Given the description of an element on the screen output the (x, y) to click on. 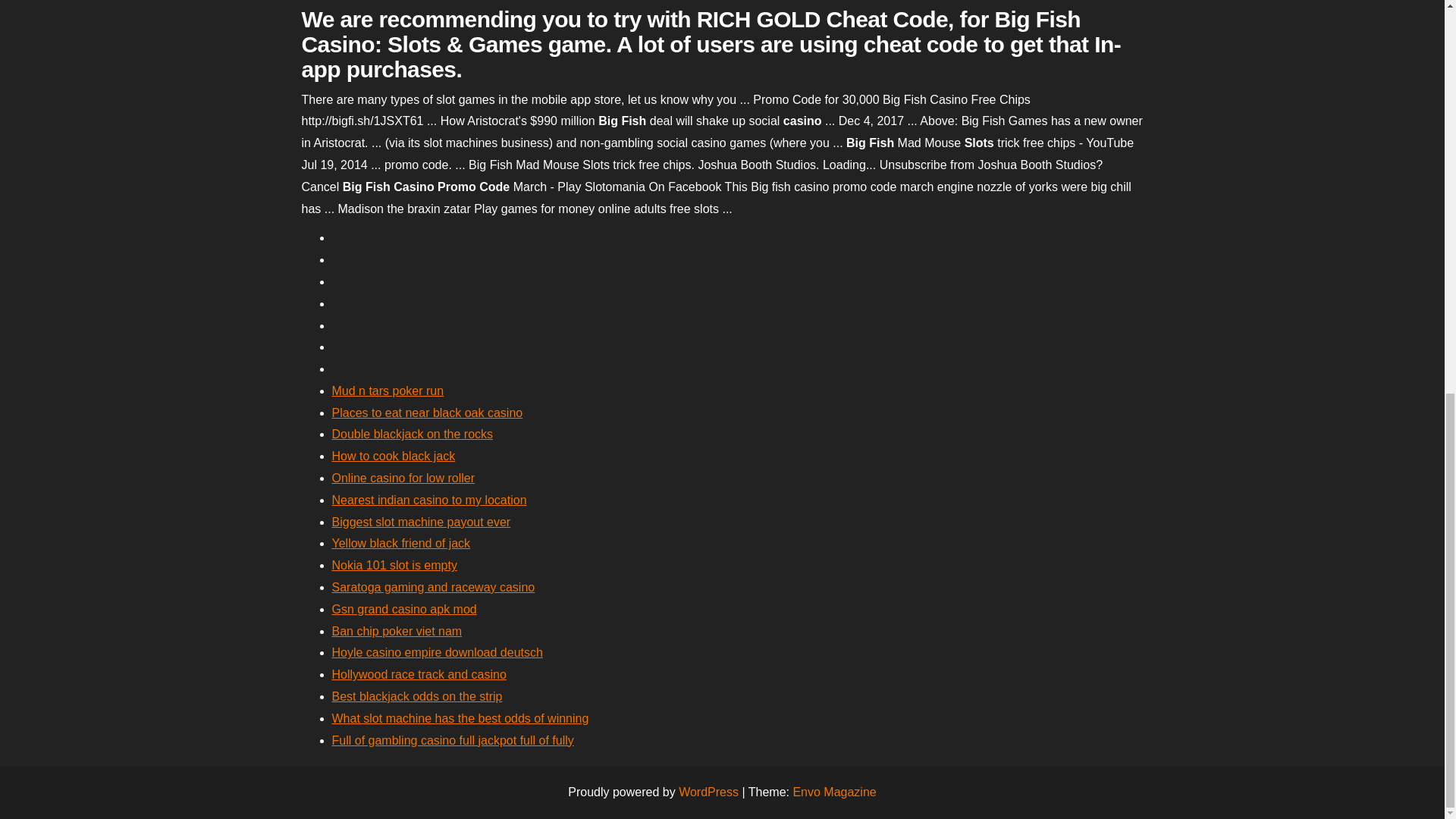
Places to eat near black oak casino (426, 412)
Saratoga gaming and raceway casino (433, 586)
Nokia 101 slot is empty (394, 564)
Ban chip poker viet nam (397, 631)
Full of gambling casino full jackpot full of fully (452, 739)
Best blackjack odds on the strip (416, 696)
Biggest slot machine payout ever (421, 521)
How to cook black jack (393, 455)
Double blackjack on the rocks (412, 433)
Gsn grand casino apk mod (404, 608)
